Given the description of an element on the screen output the (x, y) to click on. 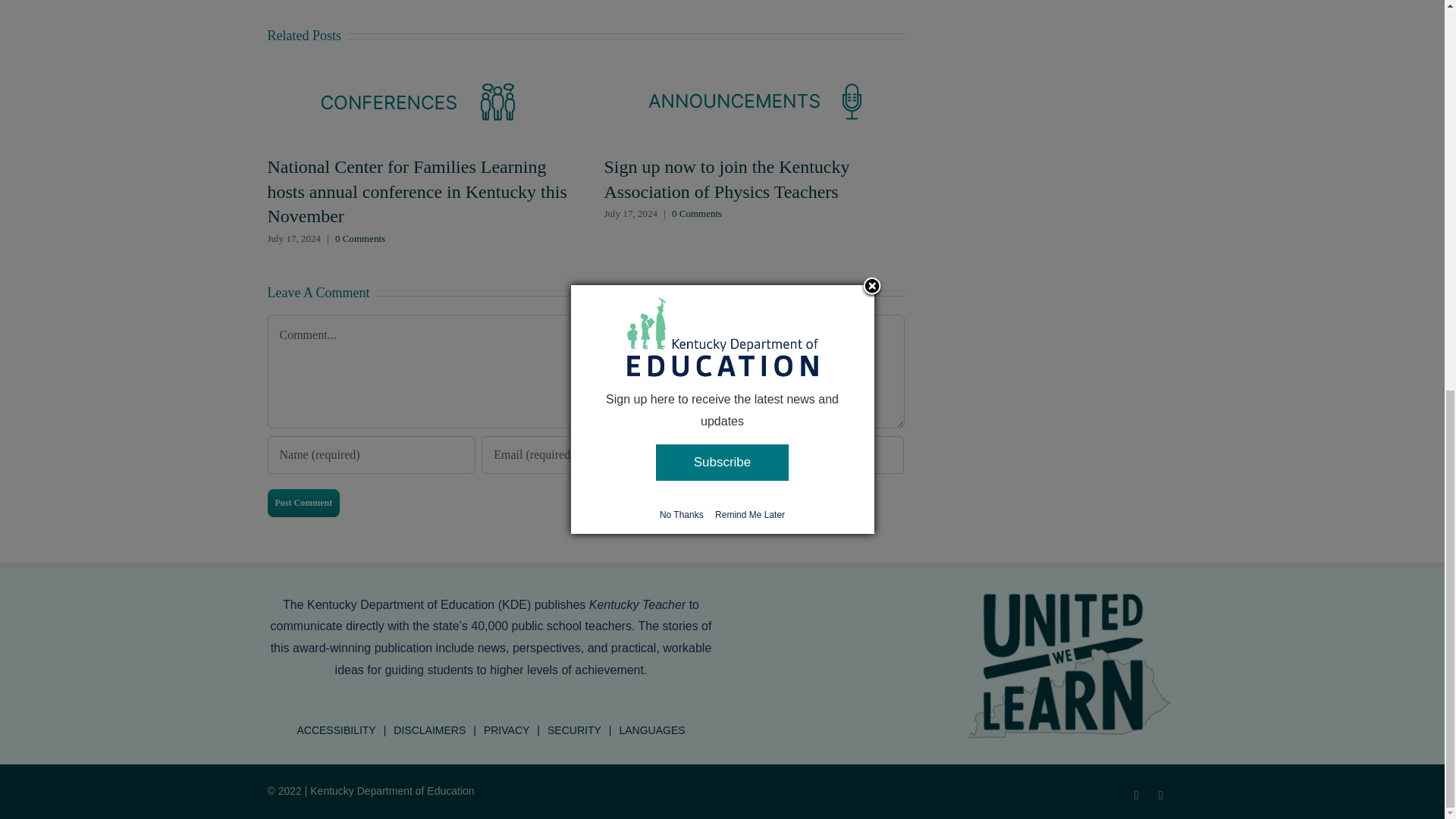
Post Comment (302, 502)
